Given the description of an element on the screen output the (x, y) to click on. 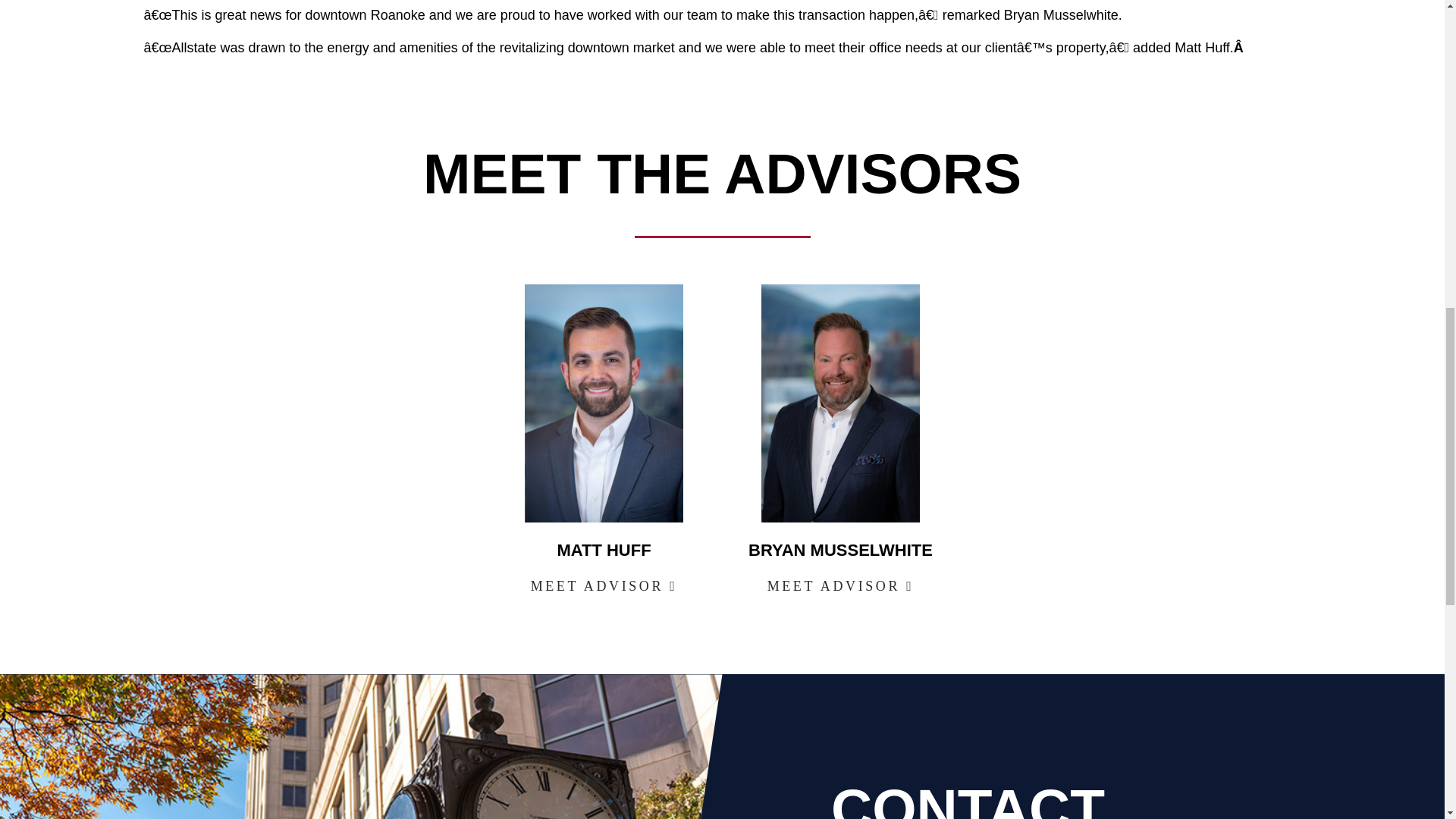
MEET ADVISOR (604, 586)
MEET ADVISOR (840, 586)
